Given the description of an element on the screen output the (x, y) to click on. 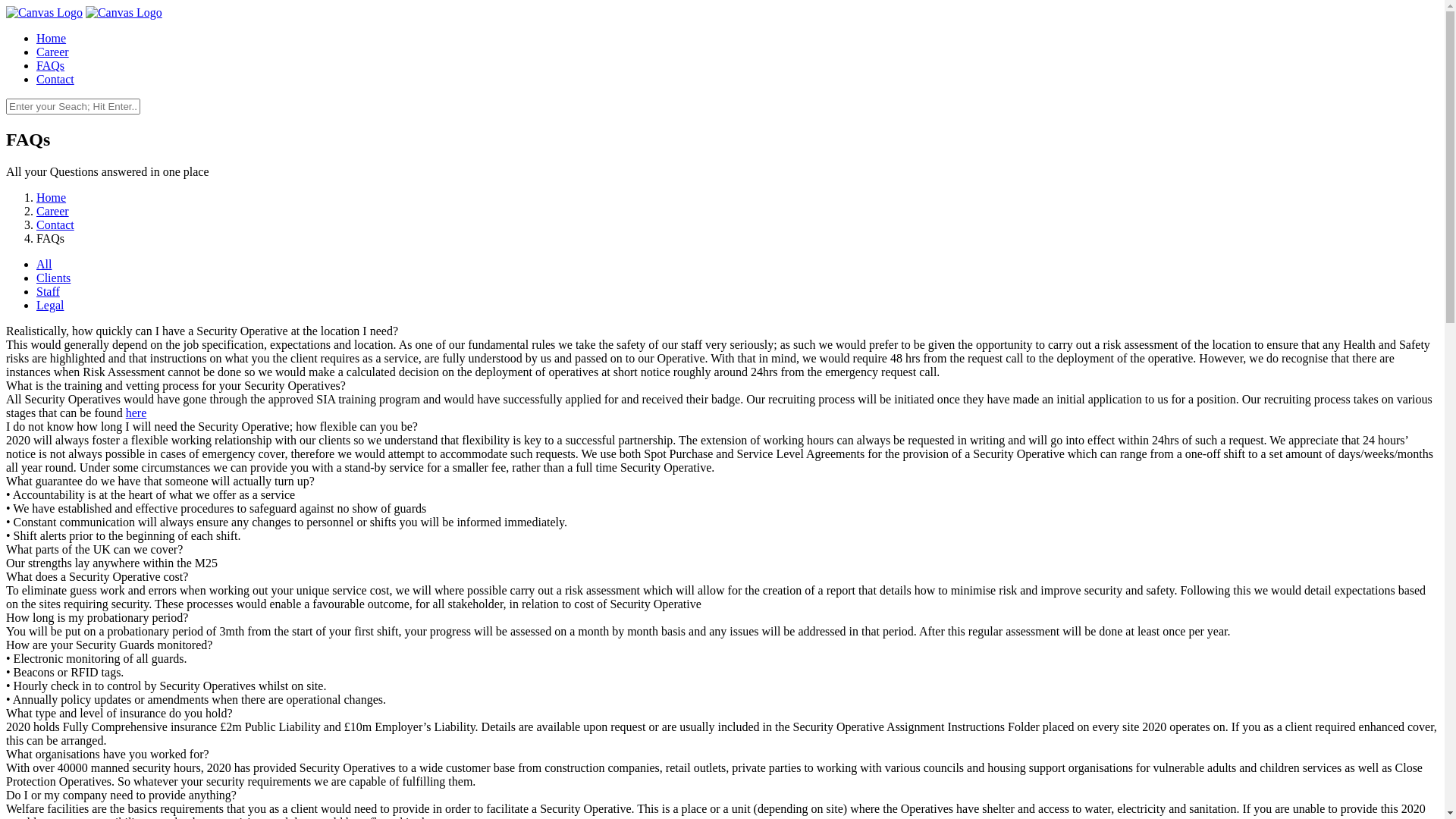
All Element type: text (43, 263)
Contact Element type: text (737, 79)
Career Element type: text (52, 210)
here Element type: text (136, 412)
Clients Element type: text (53, 277)
FAQs Element type: text (737, 65)
Legal Element type: text (49, 304)
Contact Element type: text (55, 224)
Staff Element type: text (47, 291)
Career Element type: text (737, 52)
Home Element type: text (50, 197)
Home Element type: text (737, 38)
